Given the description of an element on the screen output the (x, y) to click on. 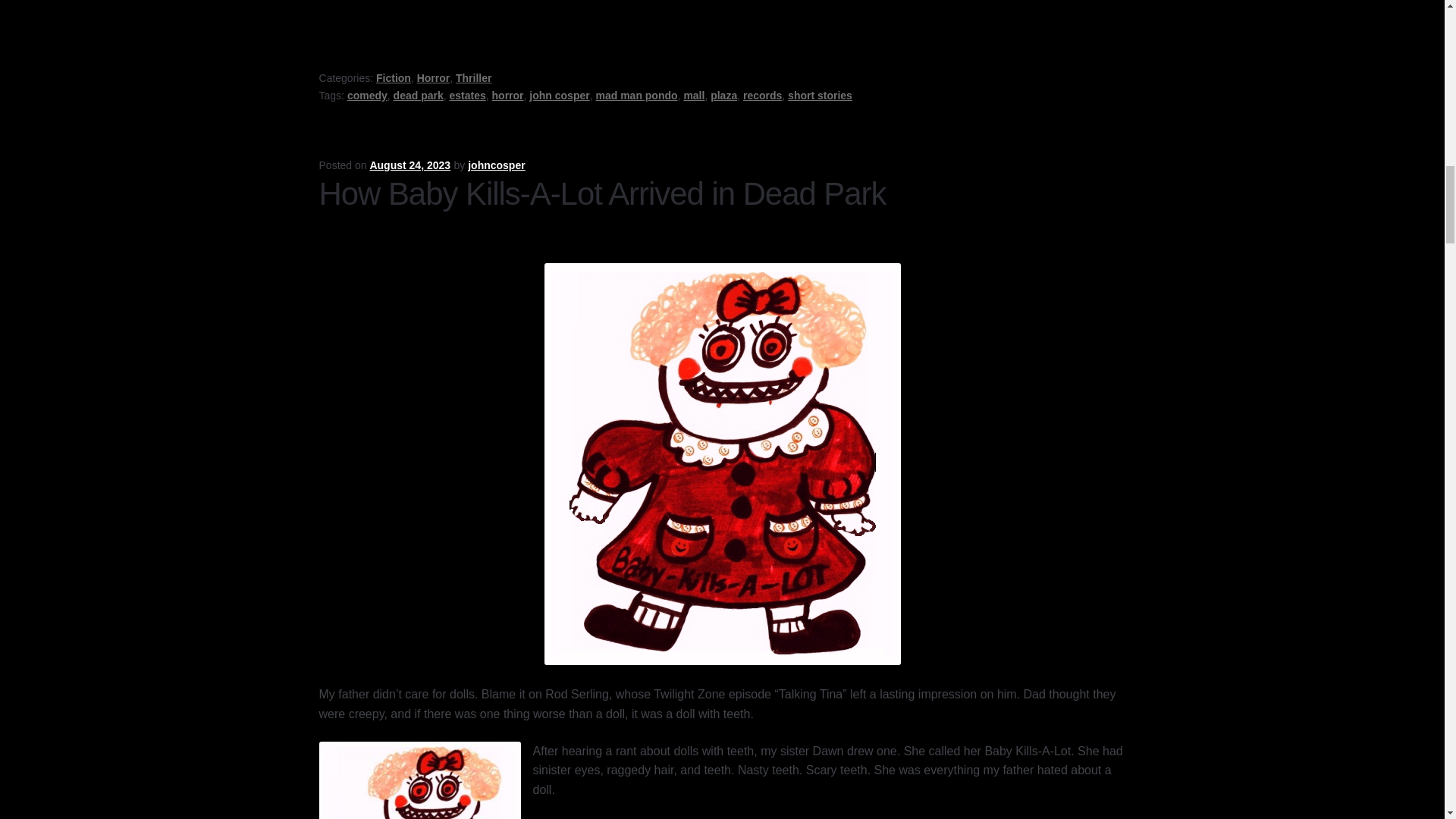
estates (466, 95)
horror (508, 95)
Horror (432, 78)
Dead Park - Work Shop Live Die (690, 8)
Thriller (473, 78)
john cosper (559, 95)
mad man pondo (636, 95)
comedy (367, 95)
Fiction (392, 78)
dead park (418, 95)
